Given the description of an element on the screen output the (x, y) to click on. 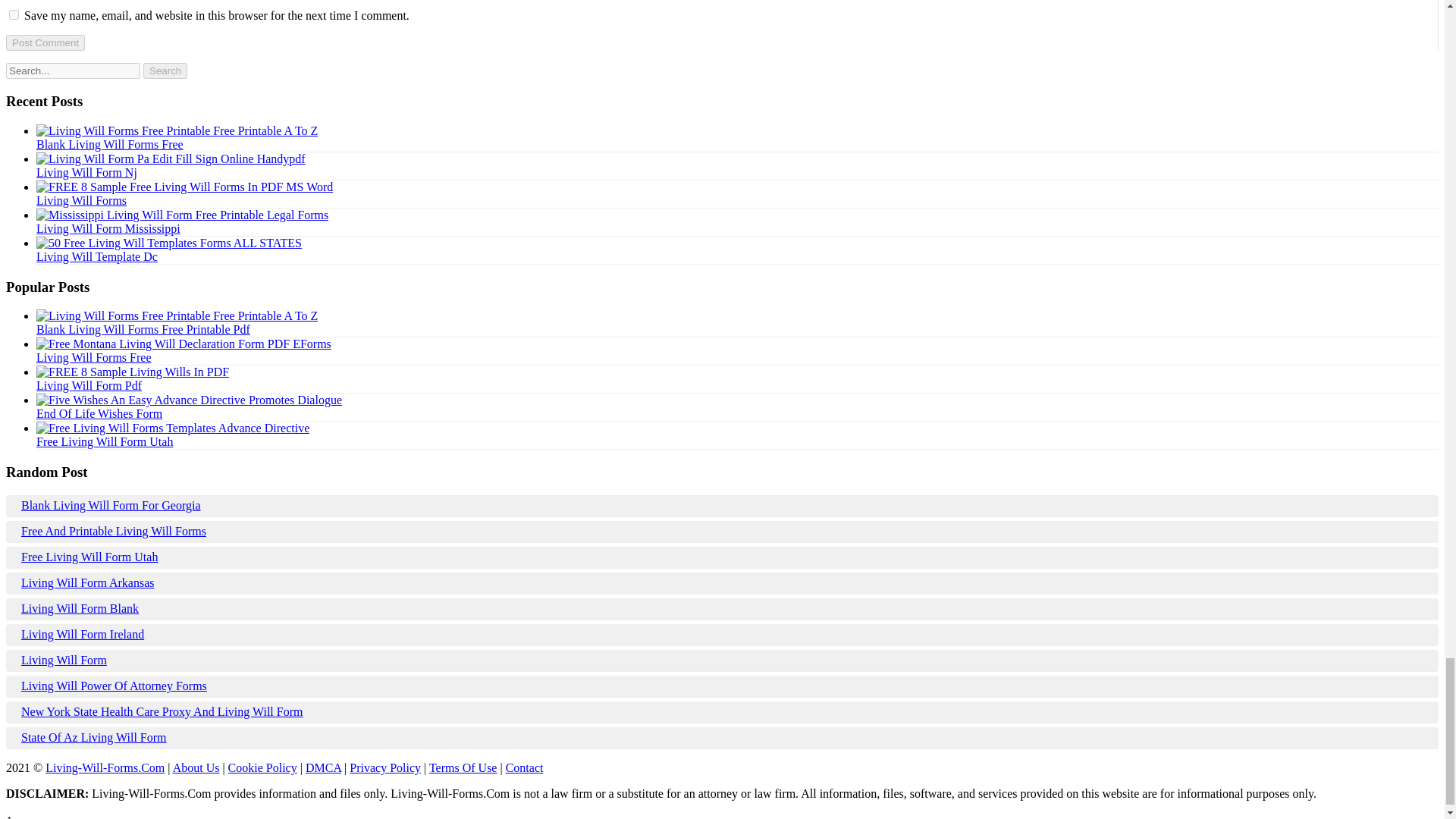
Search (164, 70)
Search (164, 70)
Post Comment (44, 42)
yes (13, 14)
